Given the description of an element on the screen output the (x, y) to click on. 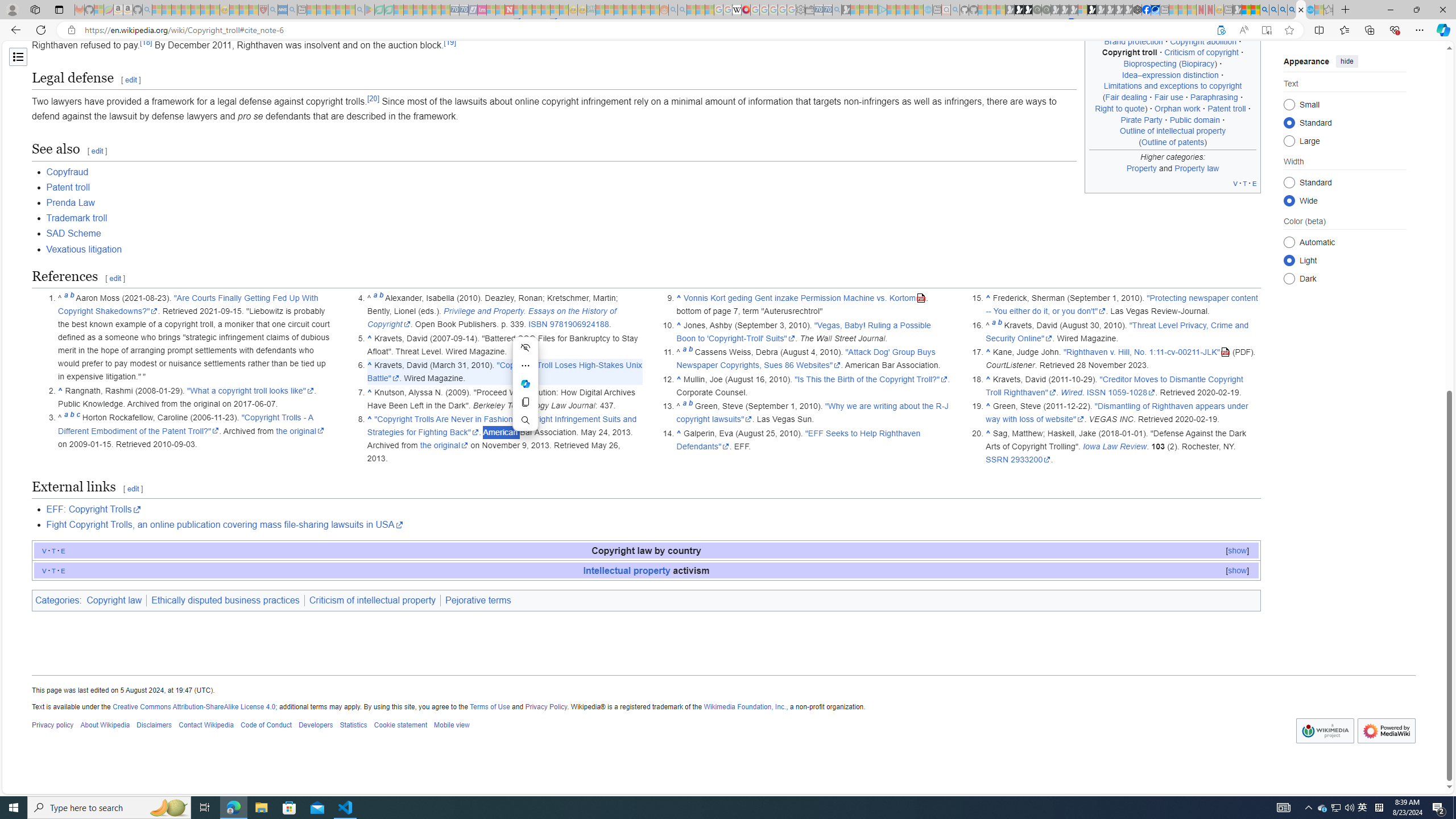
AutomationID: footer-copyrightico (1324, 730)
[show] (1237, 570)
2933200 (1030, 459)
Large (1289, 140)
Jump up (987, 433)
Small (1289, 104)
Property law (1197, 167)
Intellectual property (626, 570)
Cookie statement (400, 725)
AirNow.gov (1154, 9)
